Given the description of an element on the screen output the (x, y) to click on. 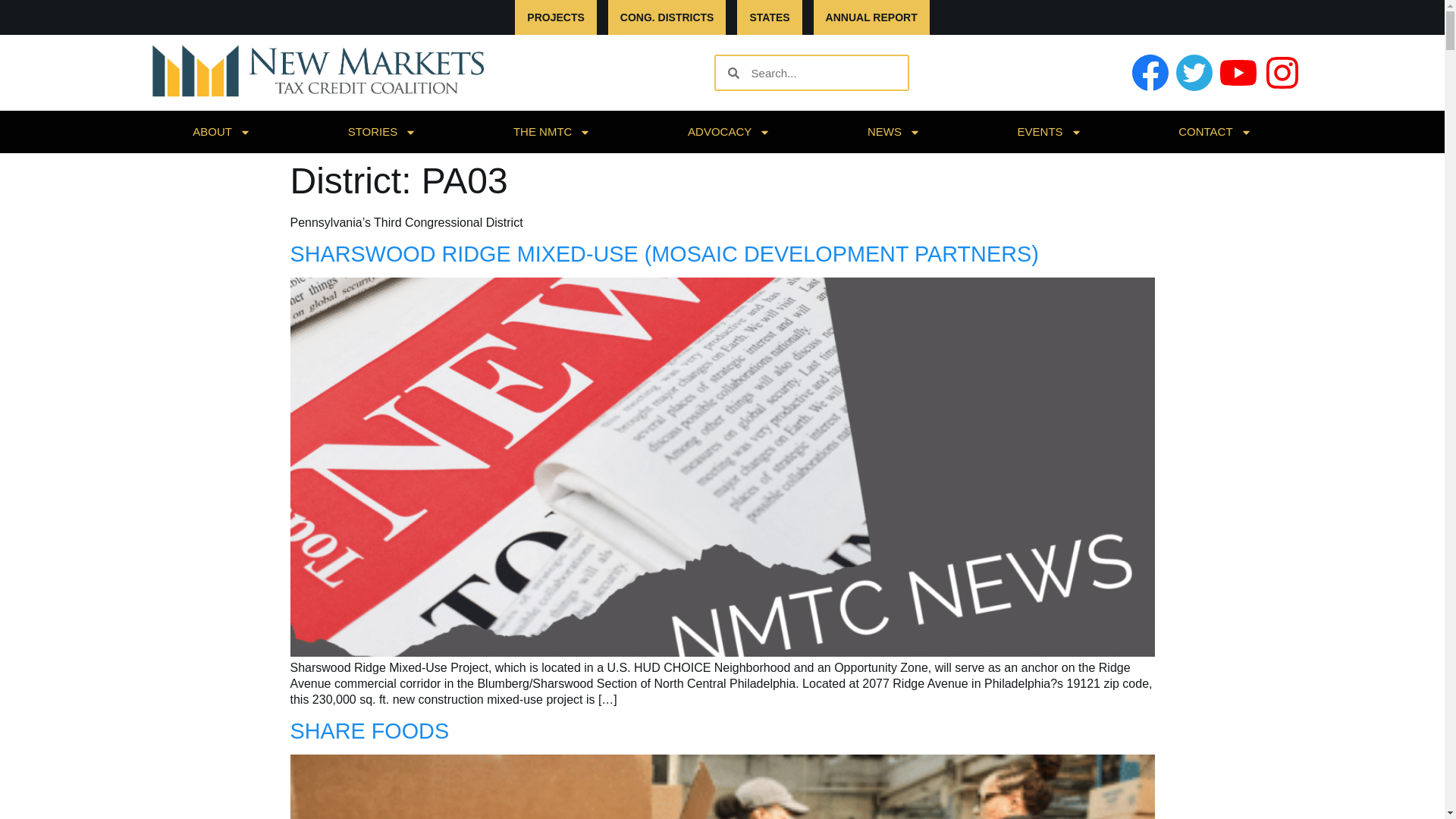
ABOUT (221, 131)
STATES (769, 17)
THE NMTC (551, 131)
STORIES (381, 131)
CONG. DISTRICTS (667, 17)
ANNUAL REPORT (871, 17)
PROJECTS (555, 17)
